Given the description of an element on the screen output the (x, y) to click on. 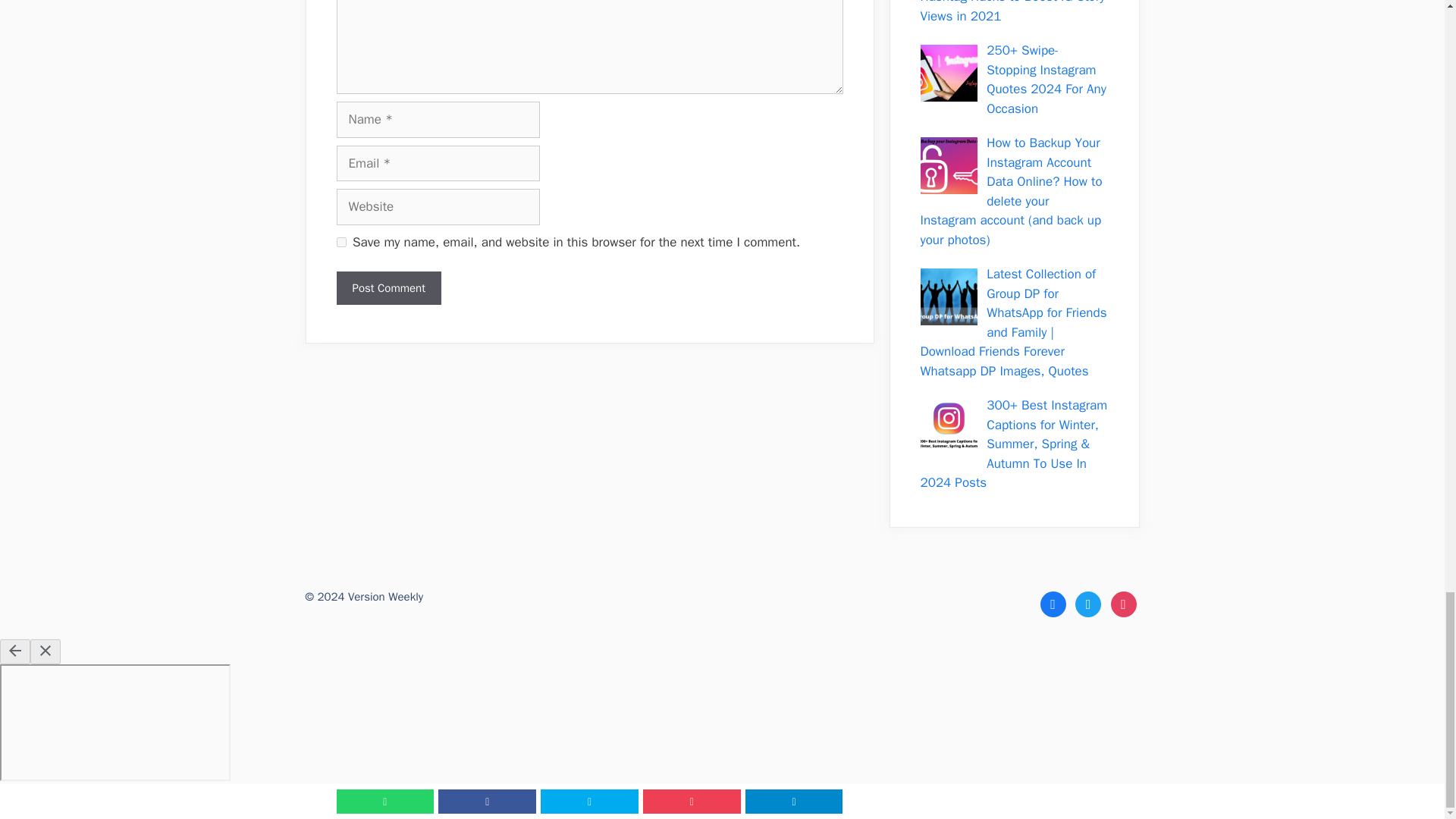
Instagram (1122, 603)
yes (341, 242)
Facebook (1053, 603)
Post Comment (388, 288)
Twitter (1087, 603)
Post Comment (388, 288)
